Given the description of an element on the screen output the (x, y) to click on. 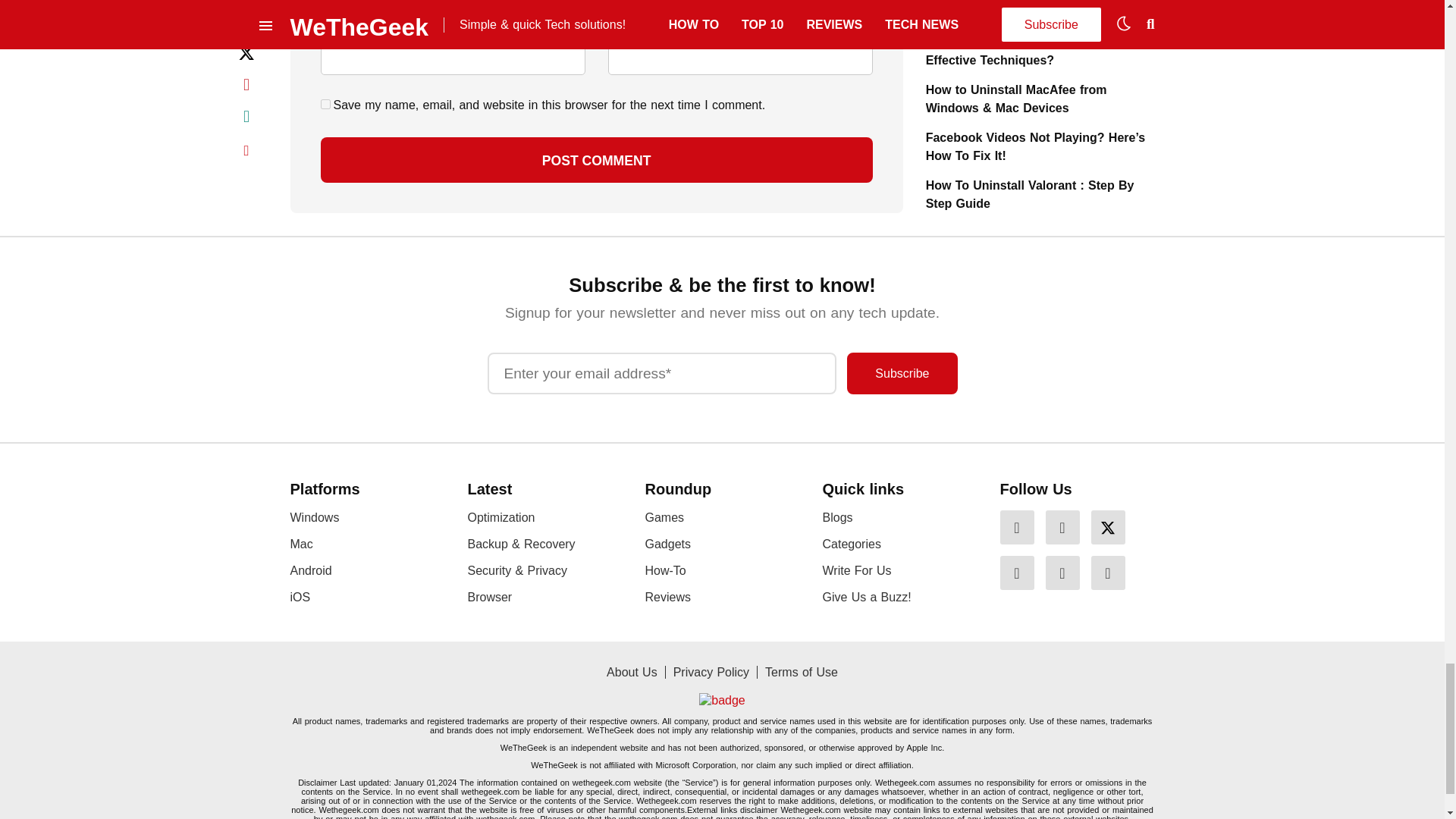
yes (325, 103)
Subscribe (901, 372)
Post Comment (596, 159)
